Given the description of an element on the screen output the (x, y) to click on. 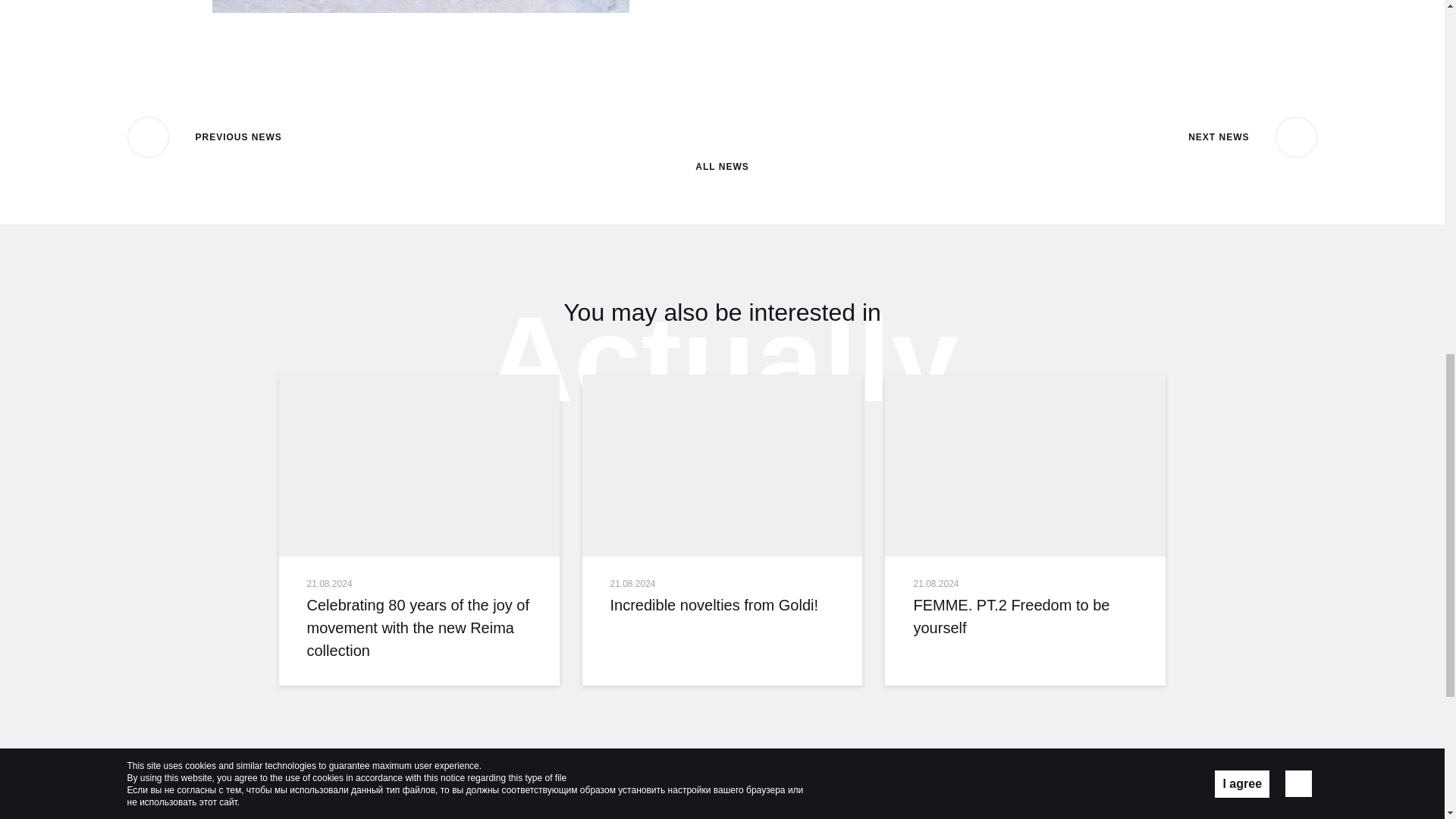
FEMME. PT.2 Freedom to be yourself (1024, 616)
Incredible novelties from Goldi! (722, 465)
Incredible novelties from Goldi! (722, 604)
NEXT NEWS (1252, 137)
ALL NEWS (721, 144)
PREVIOUS NEWS (205, 137)
FEMME. PT.2 Freedom to be yourself (1025, 465)
